Given the description of an element on the screen output the (x, y) to click on. 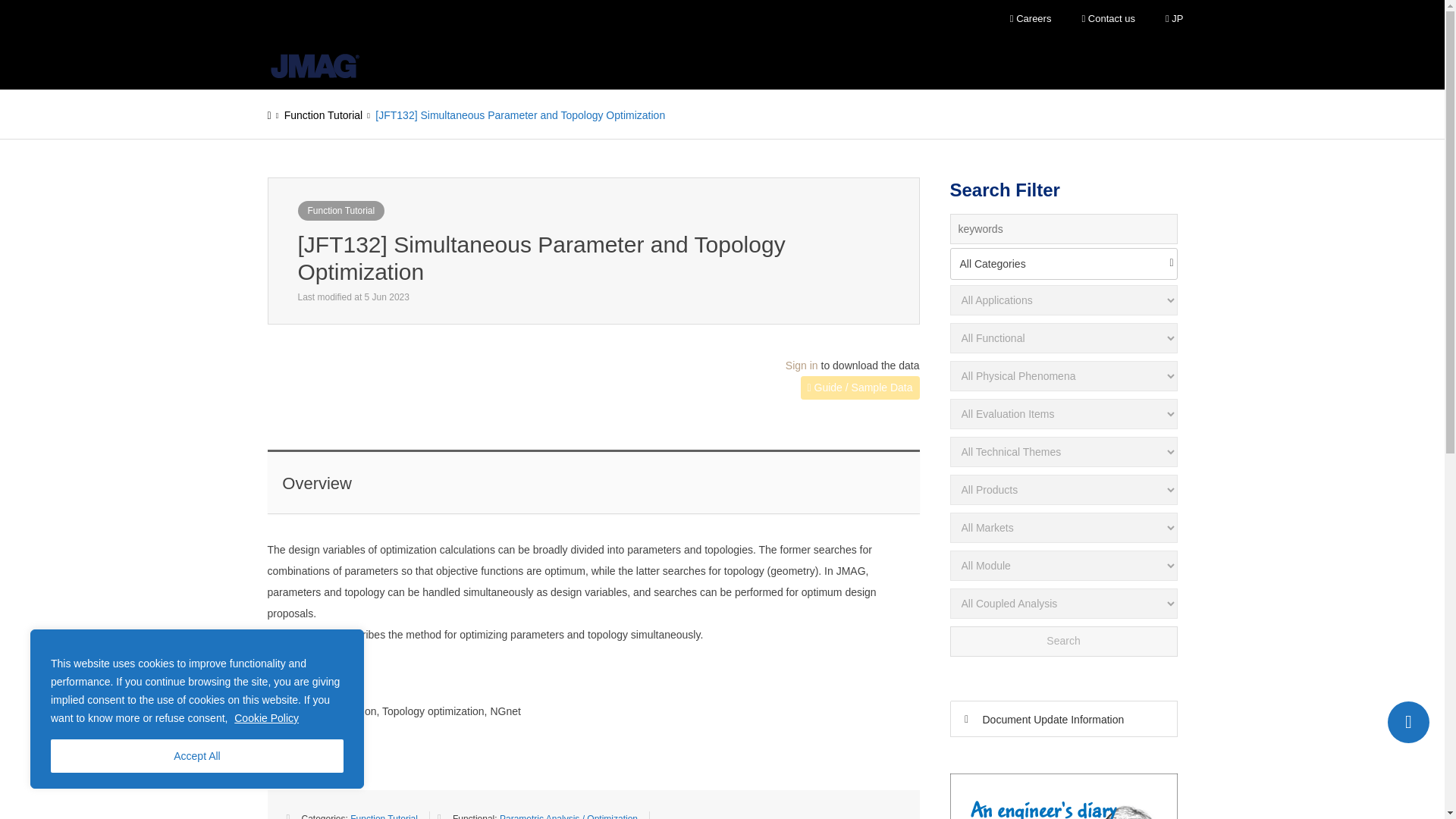
Careers (1030, 19)
Accept All (196, 756)
Contact us (1107, 19)
JP (1174, 19)
Function Tutorial (340, 210)
Simulation Technology for Electromechanical Design : JMAG (313, 63)
Products (497, 63)
Cookie Policy (265, 717)
Contact (1408, 721)
Technical Library (755, 63)
Academia (658, 63)
Solutions (576, 63)
Simulation Technology for Electromechanical Design : JMAG (313, 66)
Search (1062, 641)
